Given the description of an element on the screen output the (x, y) to click on. 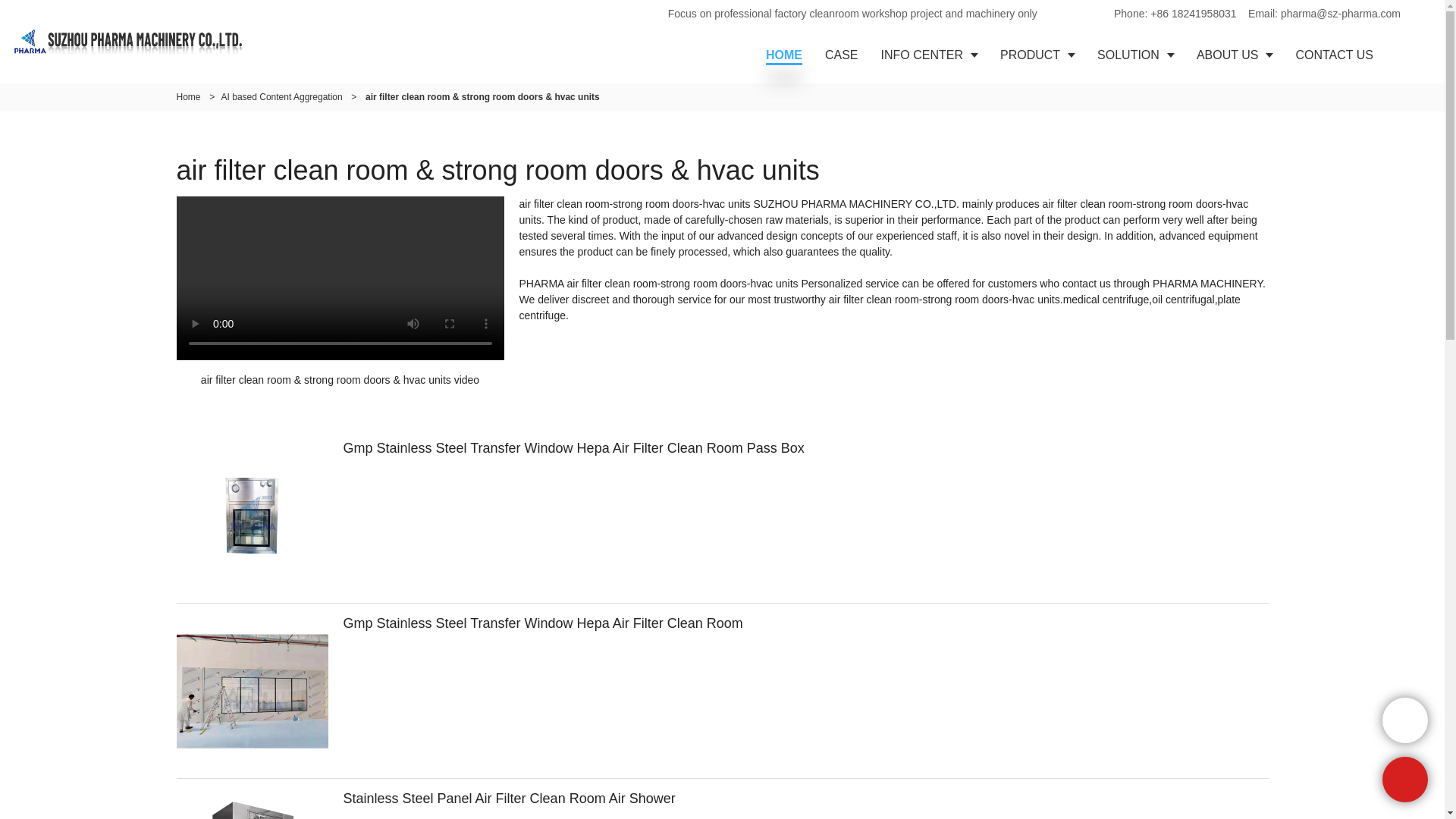
PRODUCT (1037, 55)
INFO CENTER (928, 55)
CASE (841, 55)
HOME (783, 55)
